Given the description of an element on the screen output the (x, y) to click on. 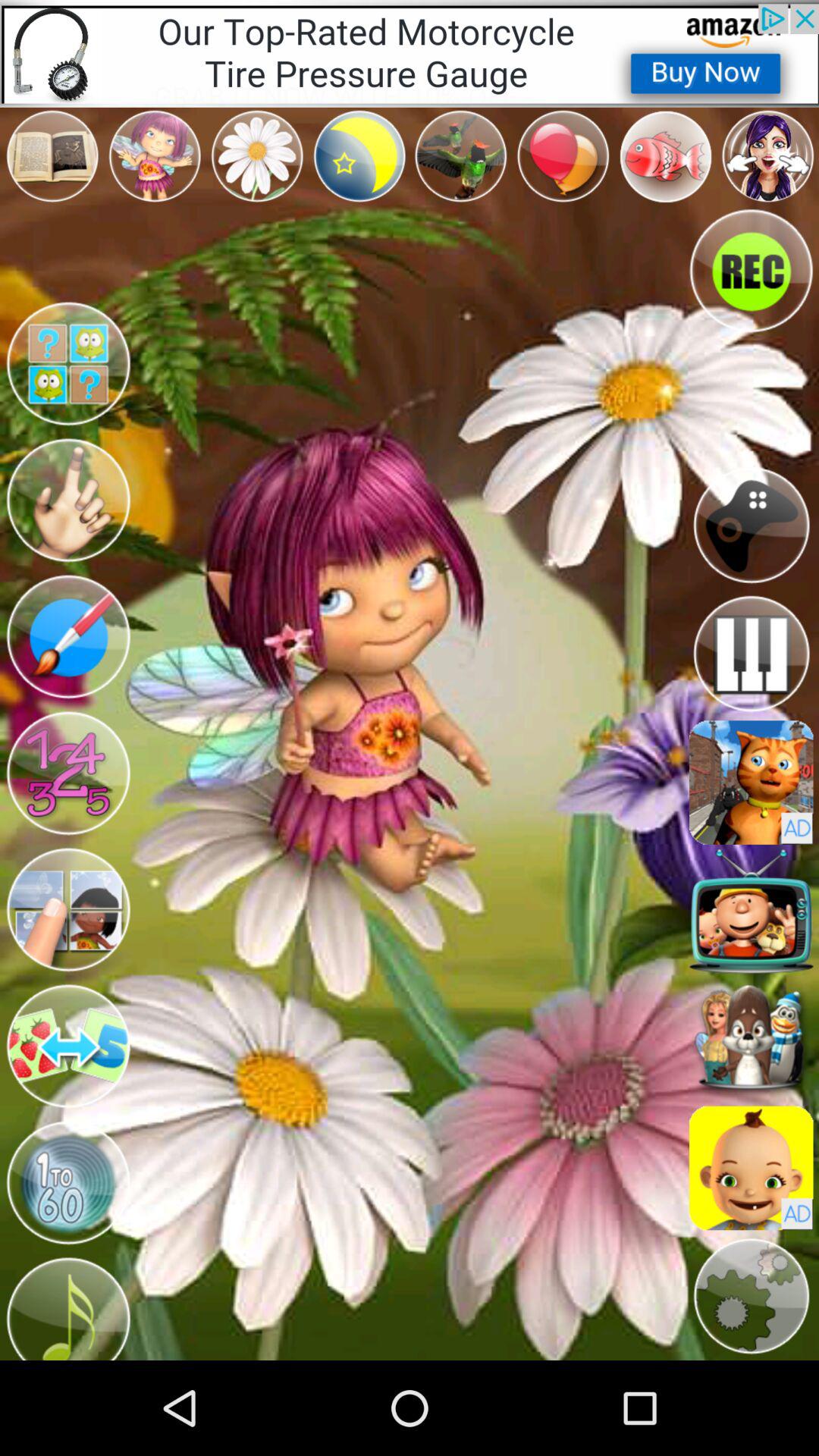
change character (68, 773)
